Given the description of an element on the screen output the (x, y) to click on. 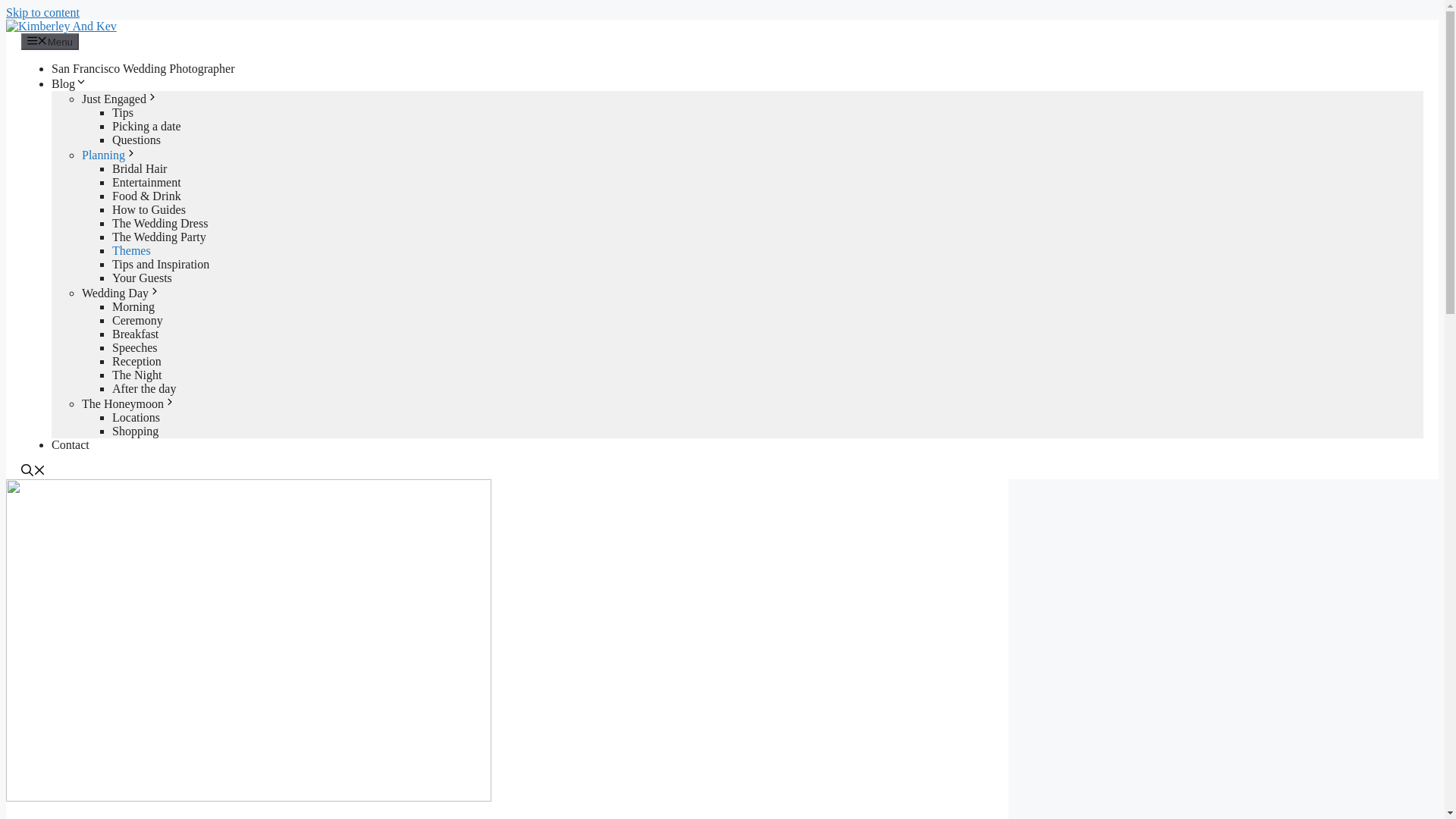
Locations (136, 417)
The Wedding Dress (160, 223)
Morning (133, 306)
Picking a date (146, 125)
Contact (69, 444)
The Honeymoon (128, 403)
After the day (144, 388)
Breakfast (135, 333)
Wedding Day (120, 292)
Menu (49, 41)
